Given the description of an element on the screen output the (x, y) to click on. 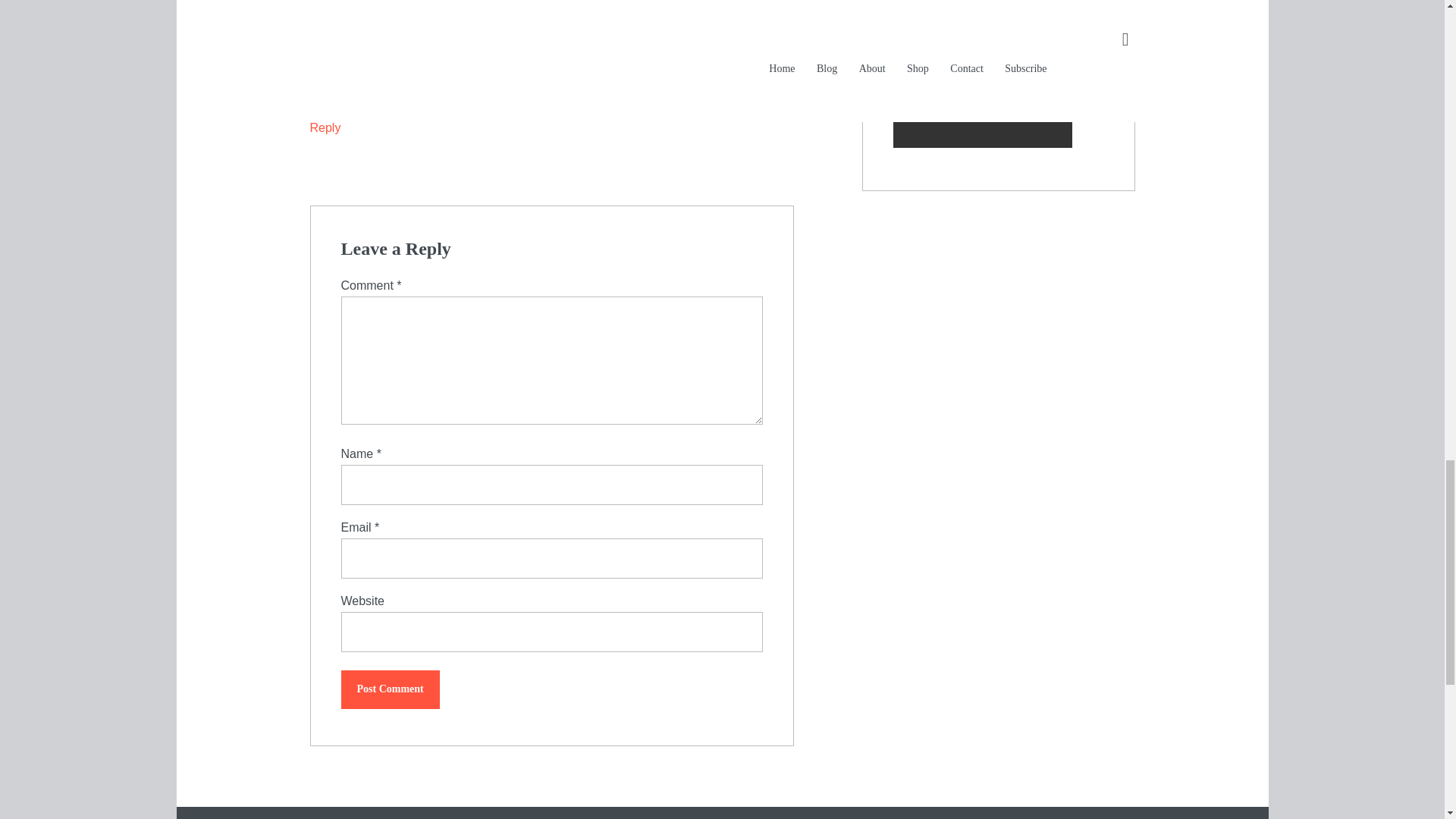
Post Comment (389, 689)
Post Comment (389, 689)
Reply (324, 127)
SEPTEMBER 28, 2011 AT 7:09 AM (386, 36)
ELISABETH THUNDERBERRY (392, 10)
